Given the description of an element on the screen output the (x, y) to click on. 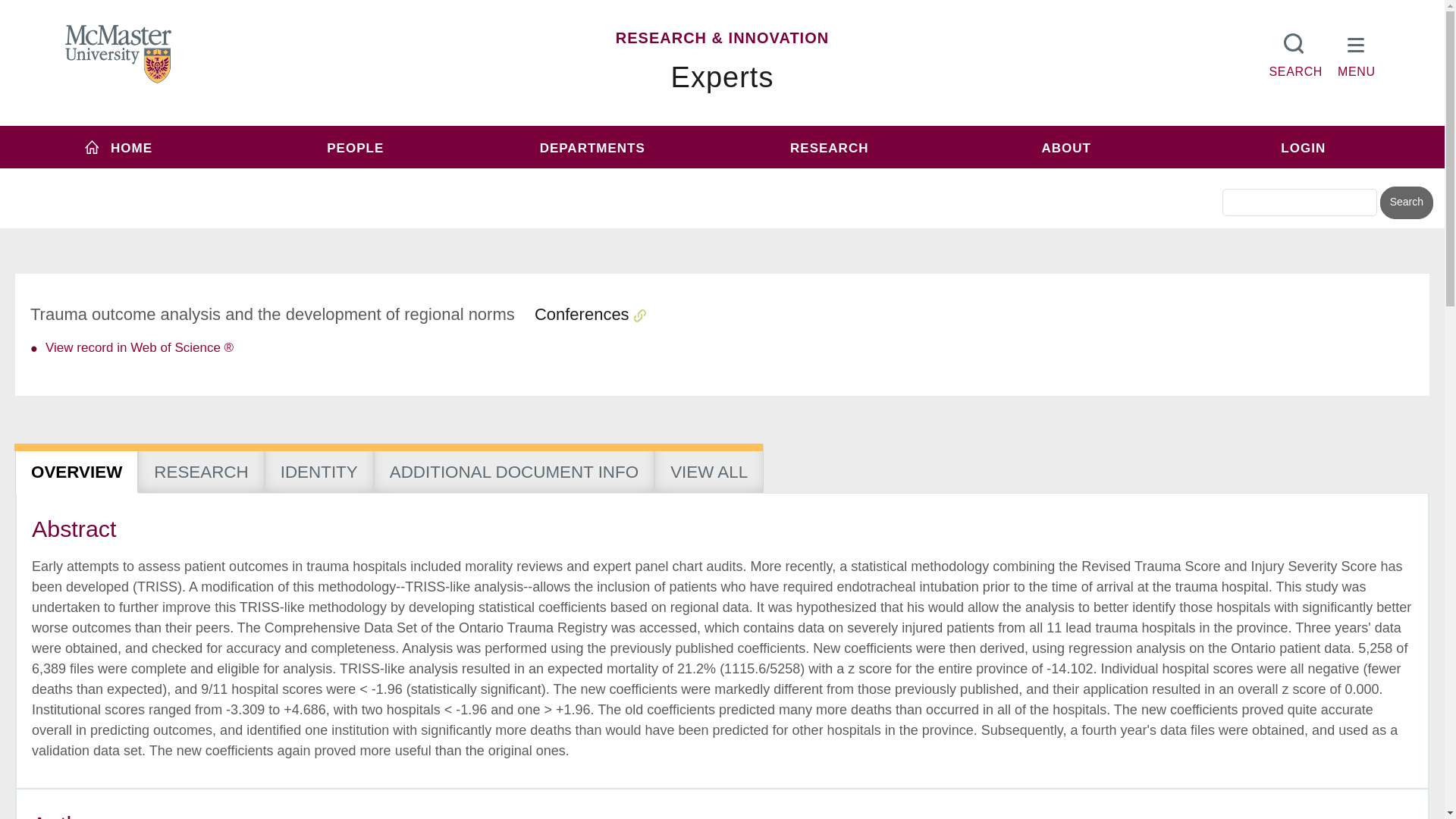
Research menu item (829, 147)
People menu item (355, 147)
Experts (722, 77)
Home menu item (118, 147)
HOME (118, 147)
inurl:experts.mcmaster.ca (601, 175)
link text (138, 347)
inurl:mcmaster.ca (829, 175)
Search (1406, 202)
DEPARTMENTS (592, 147)
